Given the description of an element on the screen output the (x, y) to click on. 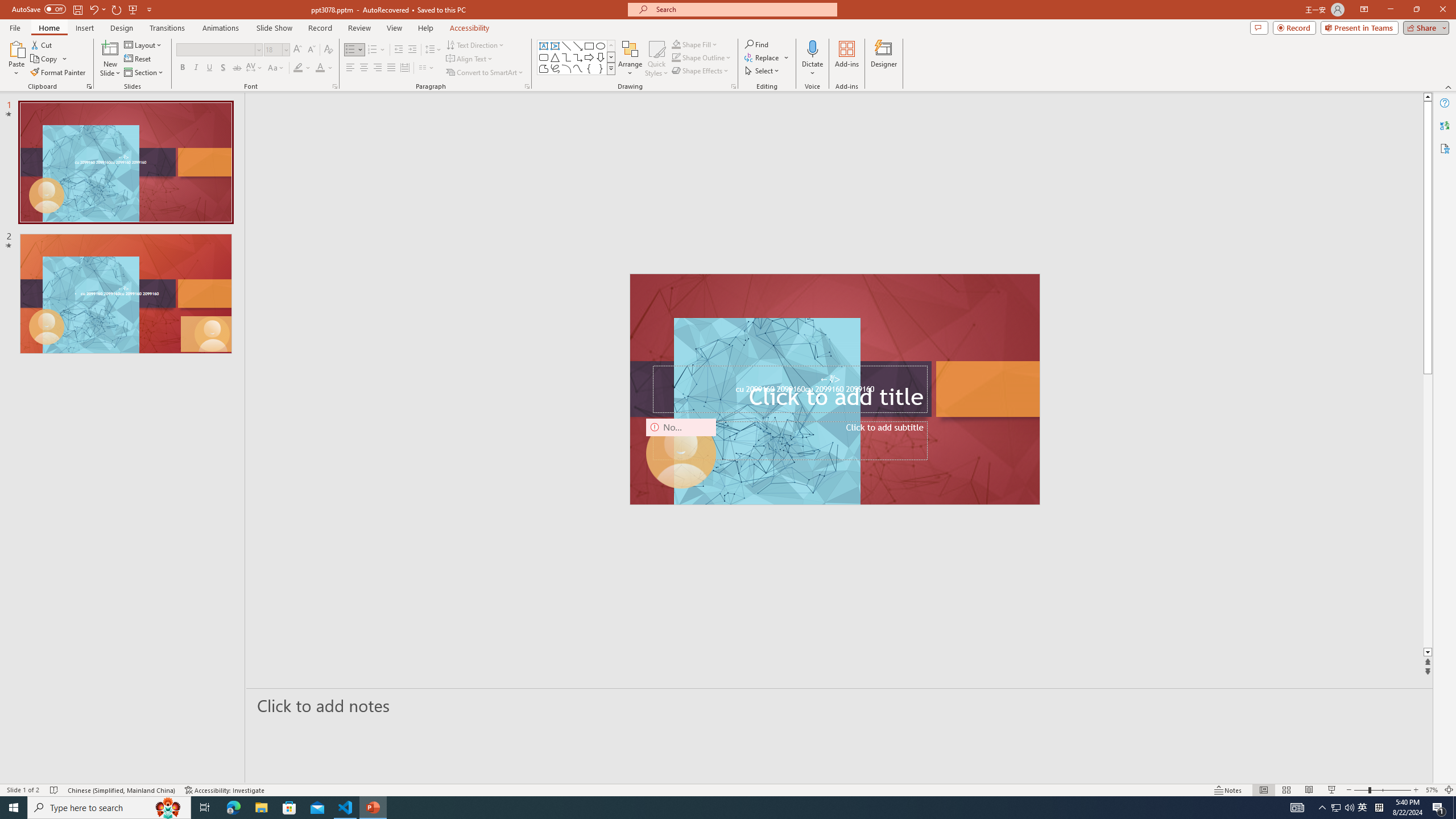
Shape Outline Green, Accent 1 (675, 56)
Increase Font Size (297, 49)
Format Painter (58, 72)
Line (566, 45)
Office Clipboard... (88, 85)
Align Right (377, 67)
Decrease Indent (398, 49)
AutomationID: ShapesInsertGallery (576, 57)
